Given the description of an element on the screen output the (x, y) to click on. 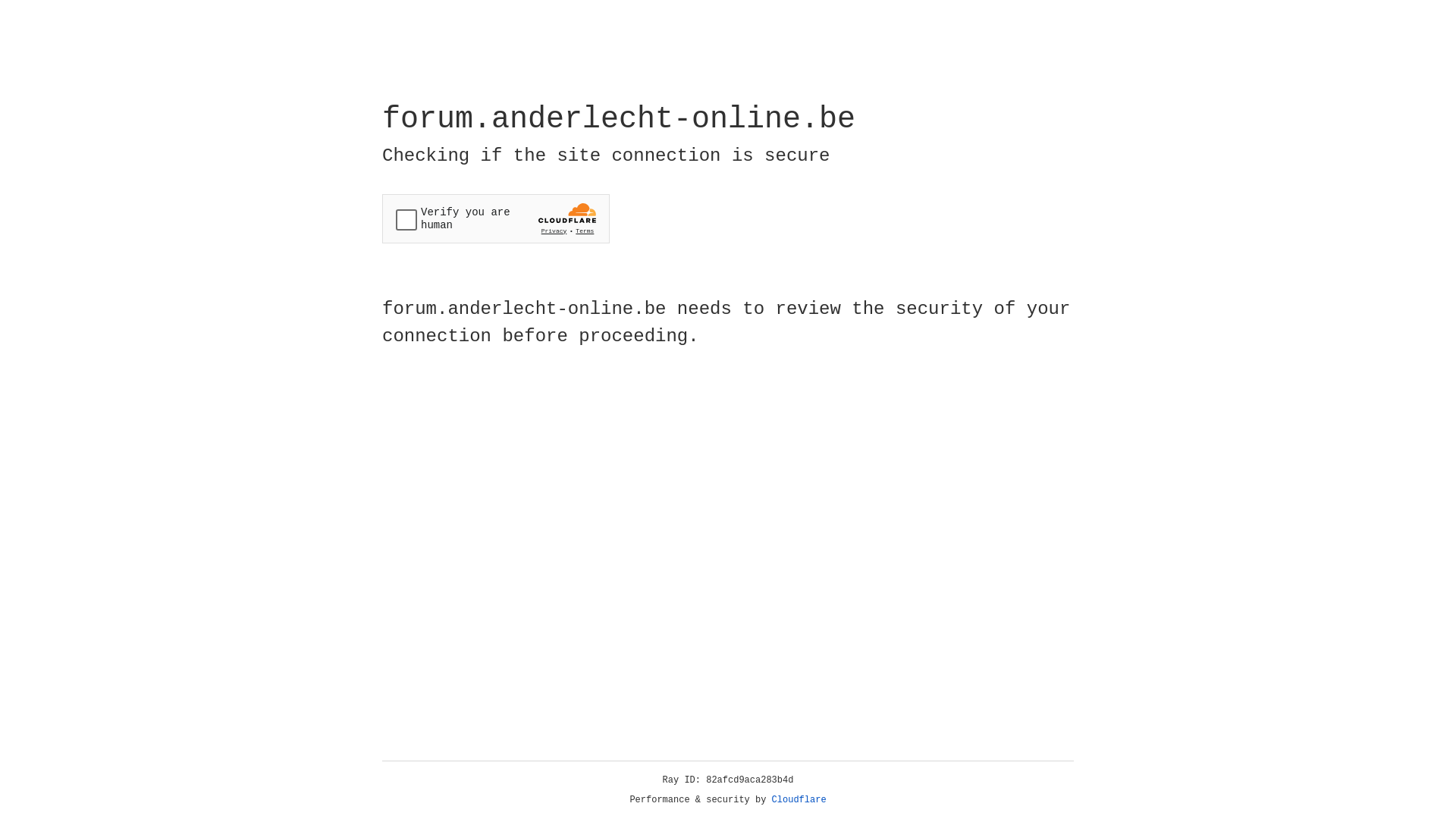
Cloudflare Element type: text (798, 799)
Widget containing a Cloudflare security challenge Element type: hover (495, 218)
